Given the description of an element on the screen output the (x, y) to click on. 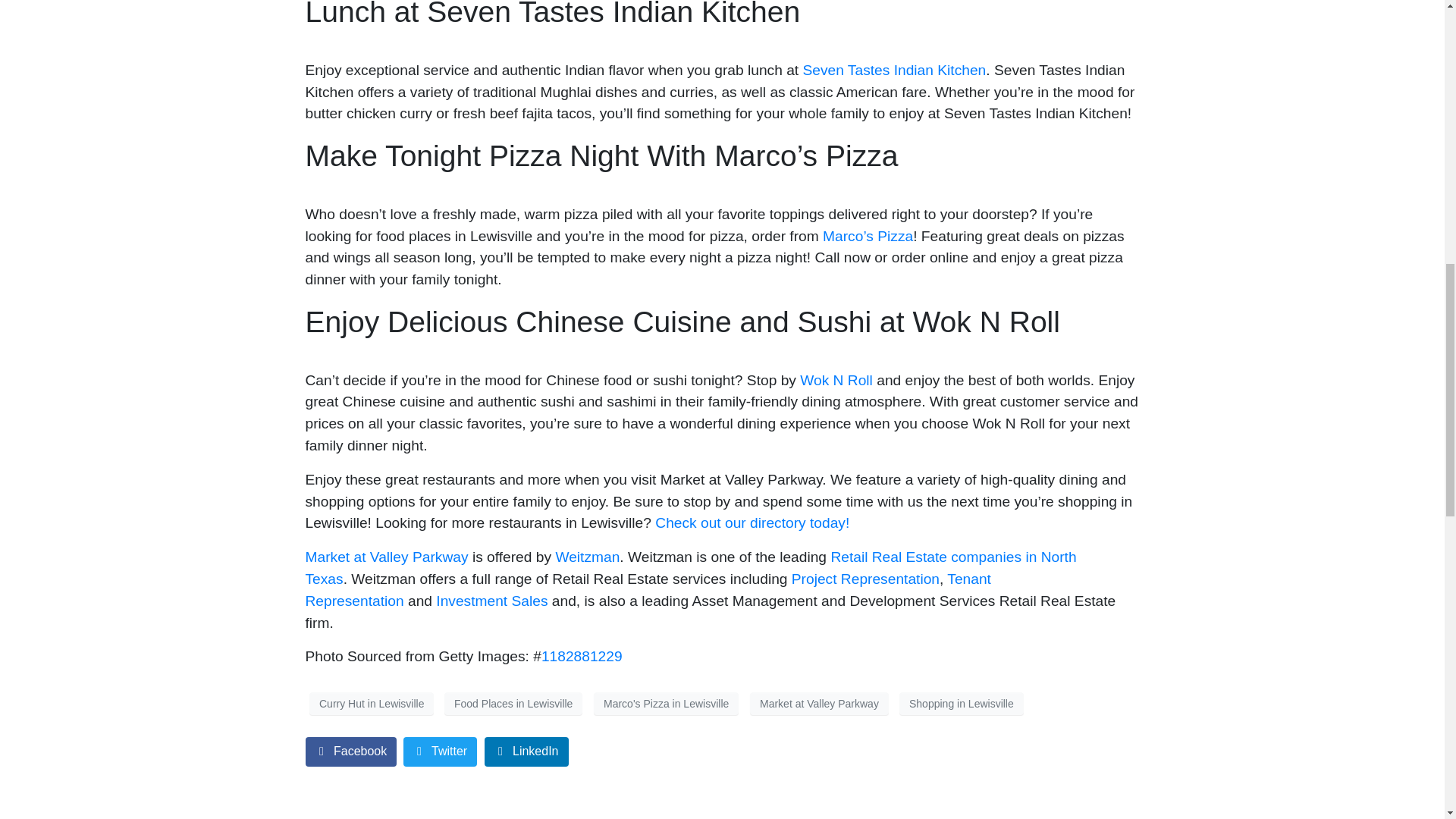
Project Representation (865, 578)
1182881229 (582, 656)
Facebook (350, 751)
Shopping in Lewisville (961, 703)
Food Places in Lewisville (513, 703)
Check out our directory today! (751, 522)
Market at Valley Parkway (385, 556)
Investment Sales (491, 600)
Twitter (440, 751)
Market at Valley Parkway (818, 703)
